Given the description of an element on the screen output the (x, y) to click on. 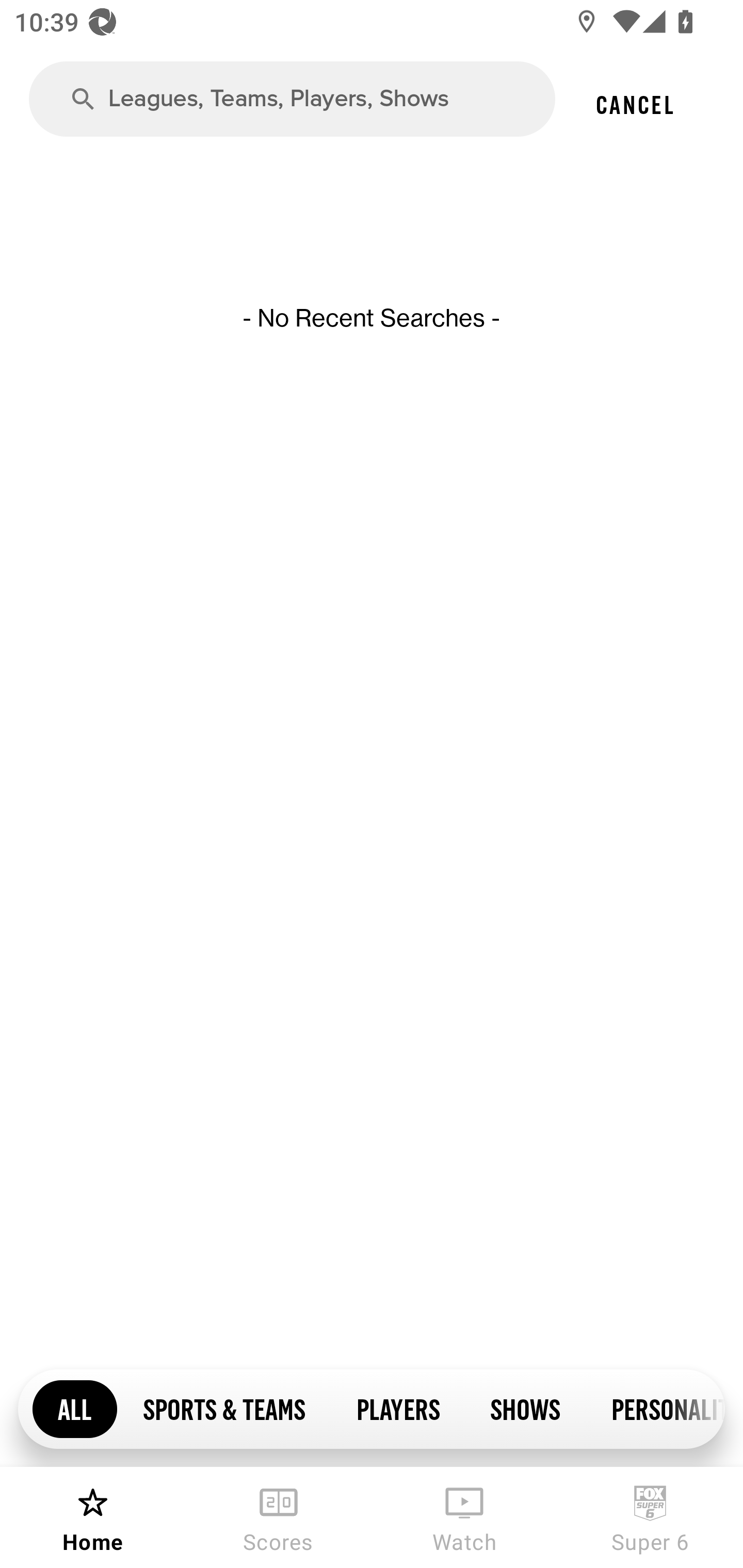
Leagues, Teams, Players, Shows (291, 98)
CANCEL (634, 104)
SPORTS & TEAMS (223, 1408)
PLAYERS (397, 1408)
SHOWS (525, 1408)
PERSONALITIES (655, 1408)
Scores (278, 1517)
Watch (464, 1517)
Super 6 (650, 1517)
